Given the description of an element on the screen output the (x, y) to click on. 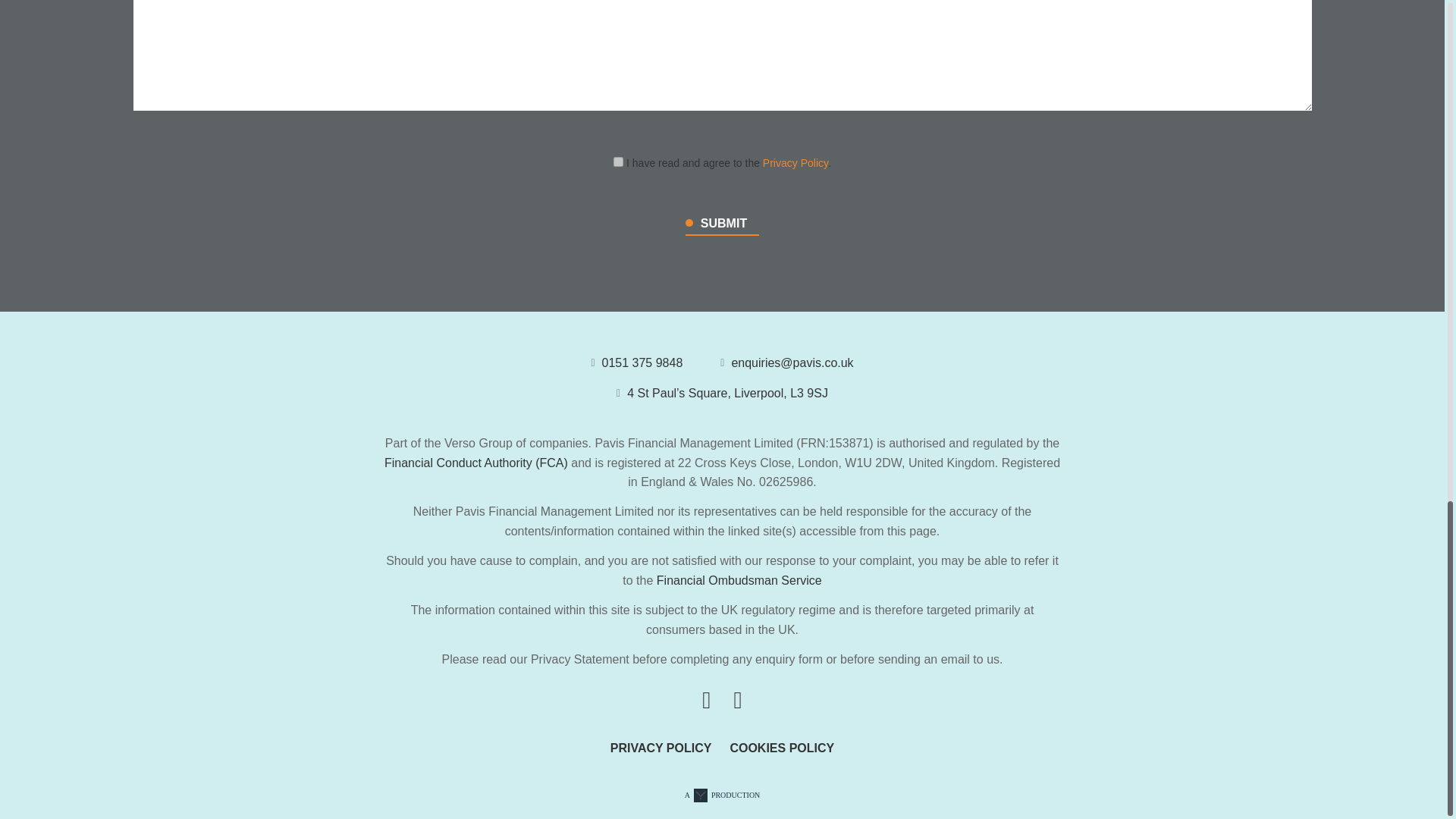
The Yardstick Agency (722, 795)
1 (617, 162)
